Given the description of an element on the screen output the (x, y) to click on. 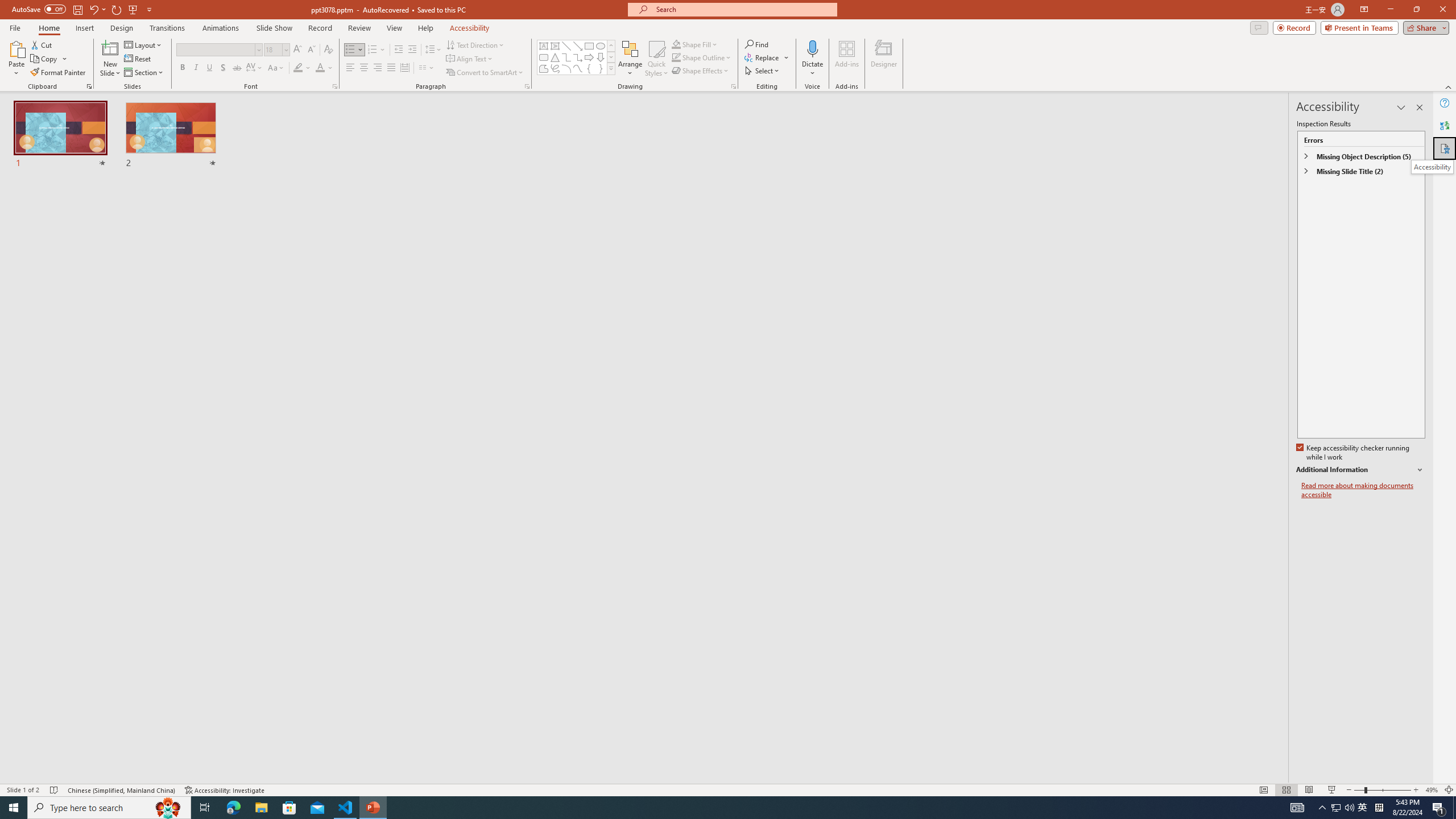
Page 1 content (719, 416)
